Given the description of an element on the screen output the (x, y) to click on. 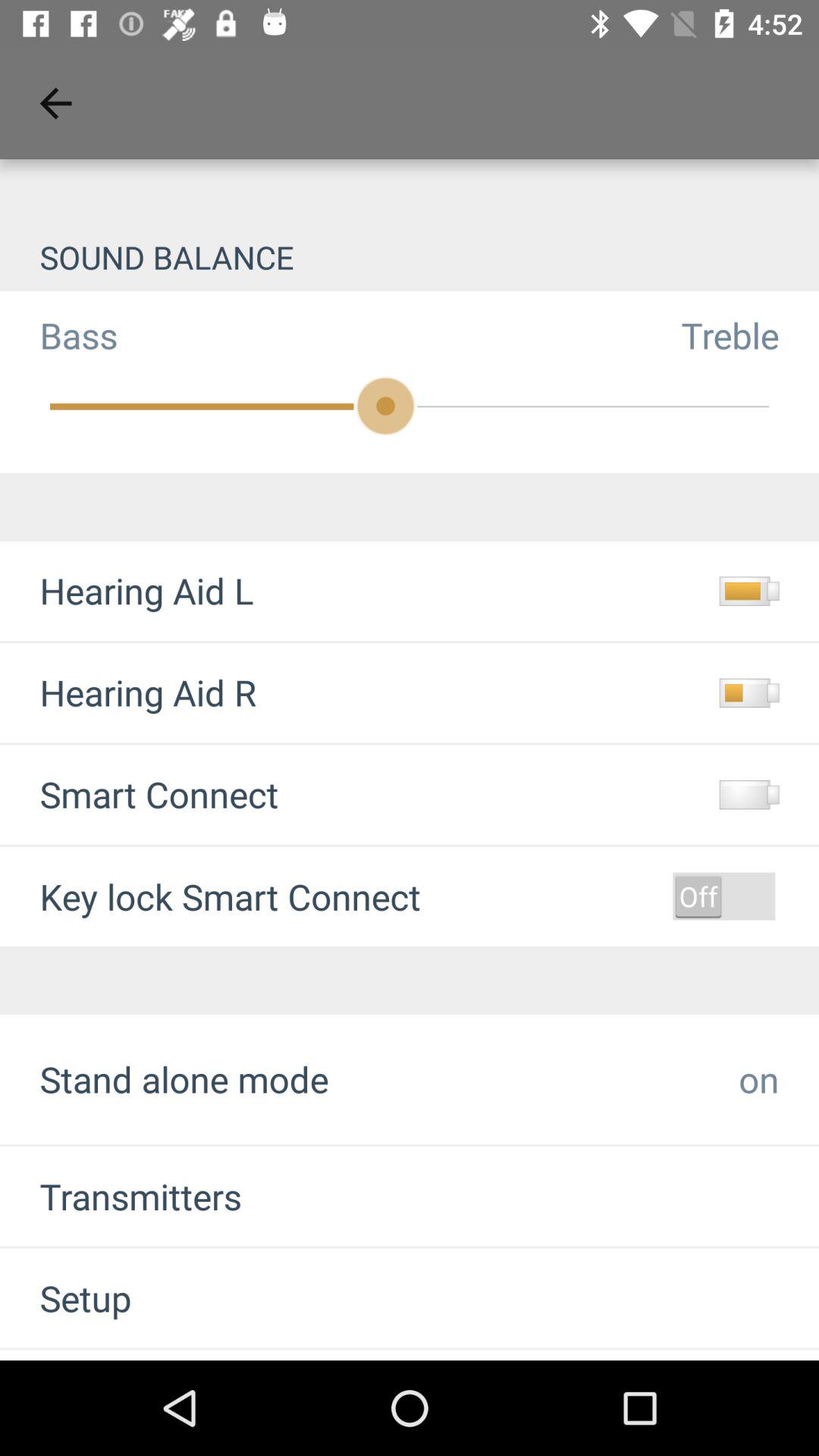
tap the item below the transmitters icon (65, 1297)
